Given the description of an element on the screen output the (x, y) to click on. 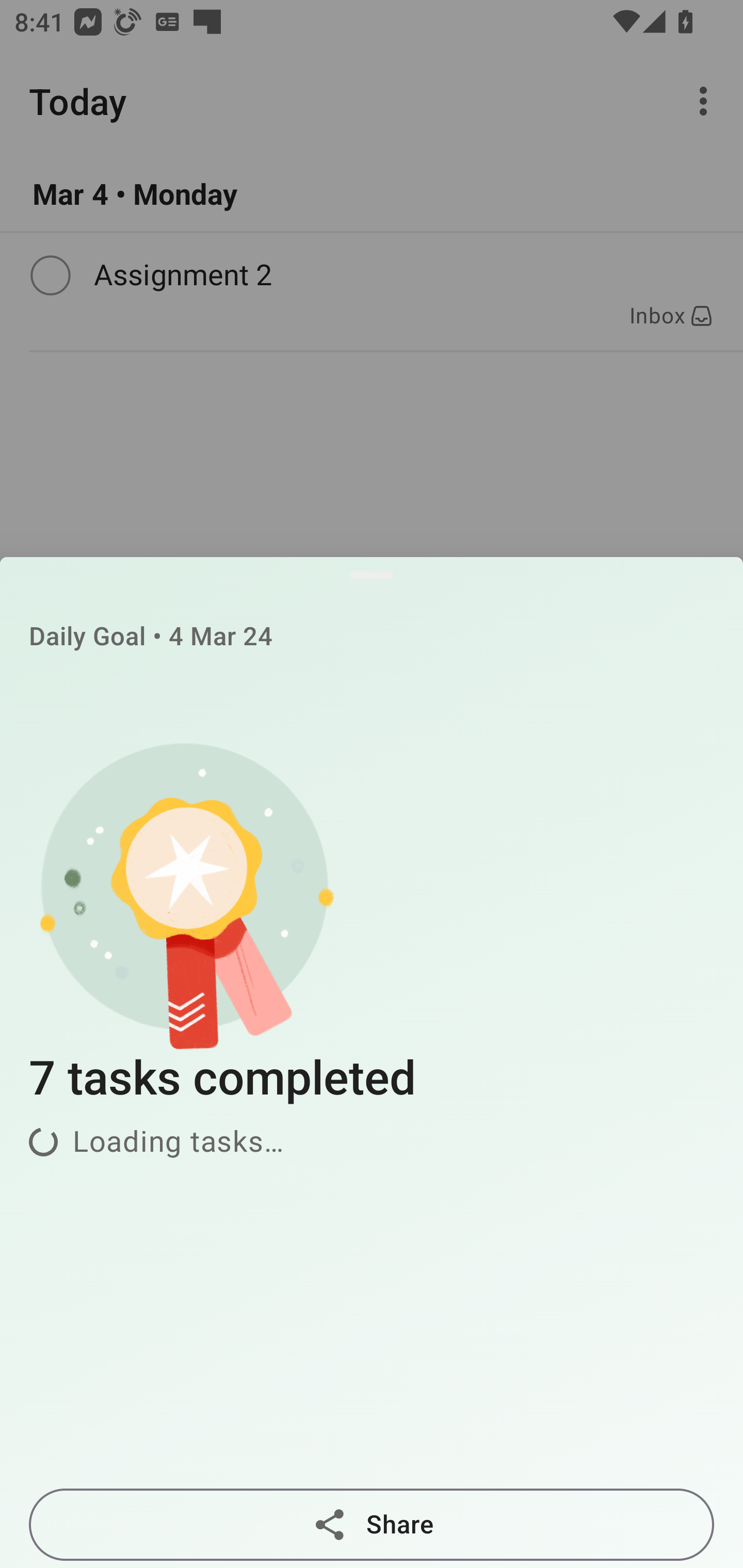
Share (371, 1524)
